Given the description of an element on the screen output the (x, y) to click on. 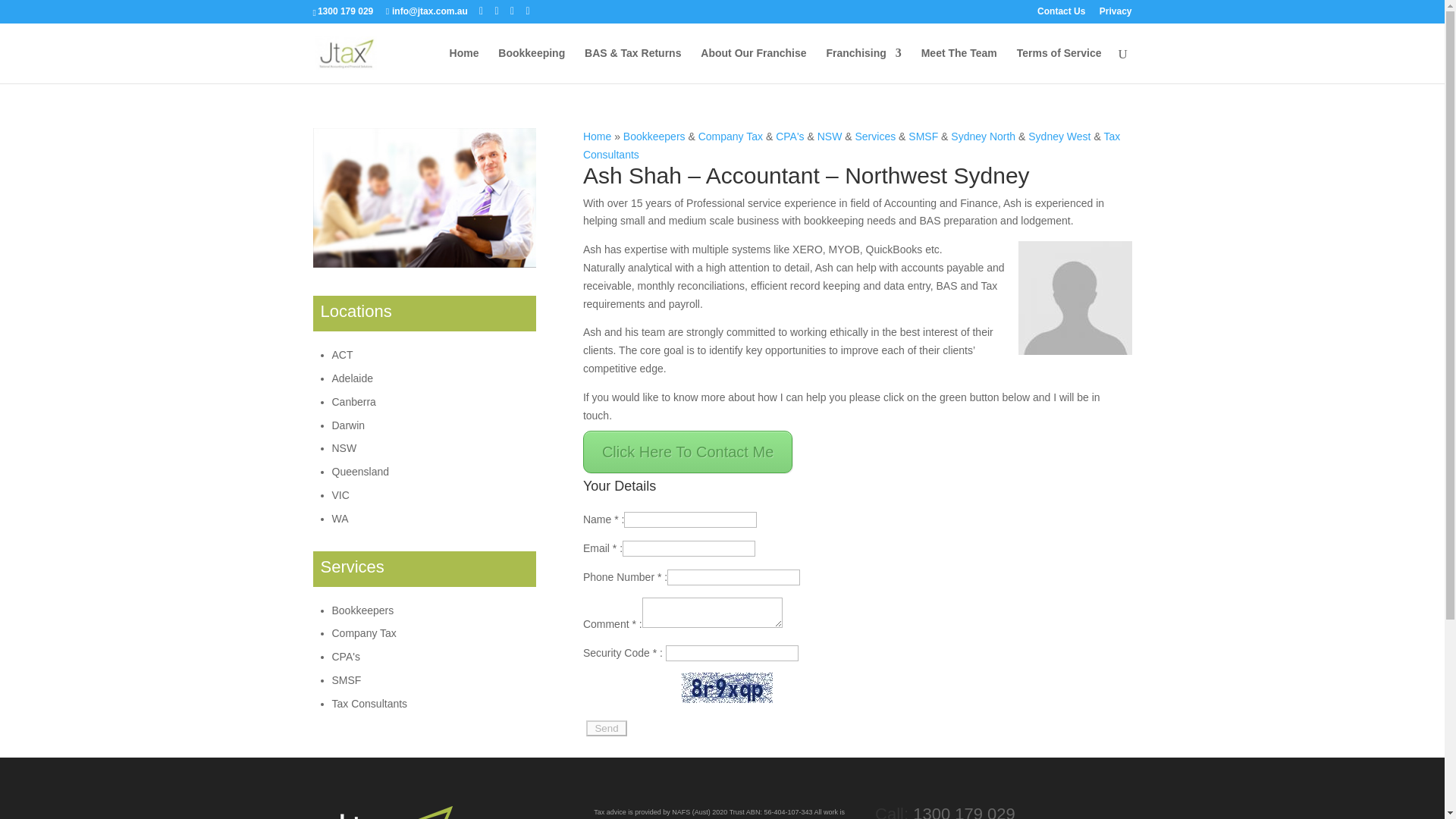
Tax Consultants (851, 145)
Company Tax (730, 136)
Canberra (353, 401)
Bookkeepers (654, 136)
Click Here To Contact Me (687, 451)
Franchising (863, 65)
Services (874, 136)
Bookkeeping (530, 65)
NSW (829, 136)
Sydney West (1058, 136)
Home (597, 136)
NSW (343, 448)
SMSF (922, 136)
Darwin (348, 425)
Meet The Team (959, 65)
